Given the description of an element on the screen output the (x, y) to click on. 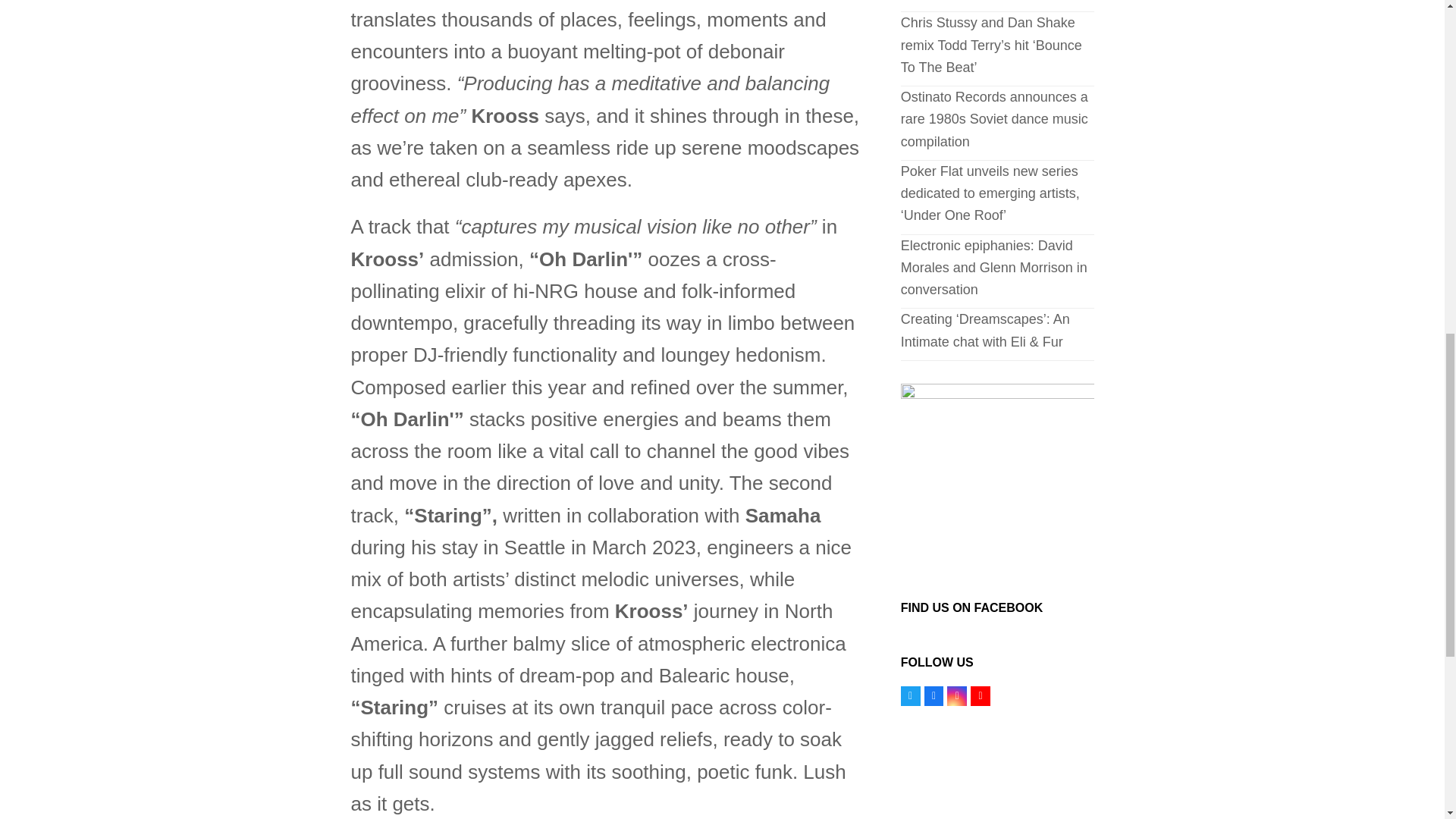
Instagram (956, 695)
Facebook (933, 695)
Twitter (910, 695)
Instagram (956, 695)
YouTube (980, 695)
YouTube (980, 695)
Twitter (910, 695)
Facebook (933, 695)
